Given the description of an element on the screen output the (x, y) to click on. 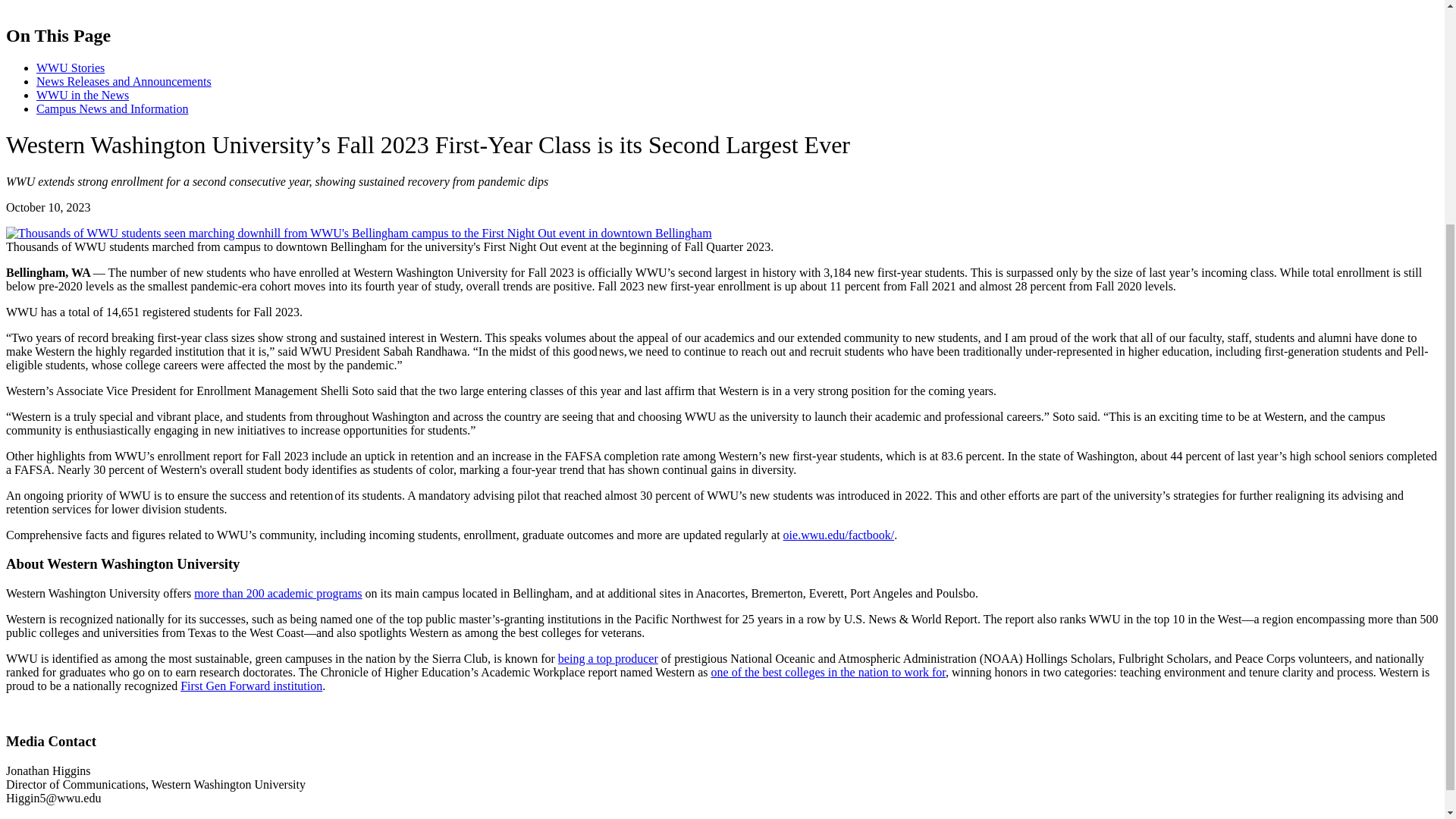
one of the best colleges in the nation to work for (828, 671)
News Releases and Announcements (123, 81)
WWU Stories (70, 67)
more than 200 academic programs (277, 593)
Campus News and Information (111, 108)
being a top producer (607, 658)
WWU in the News (82, 94)
First Gen Forward institution (250, 685)
